Given the description of an element on the screen output the (x, y) to click on. 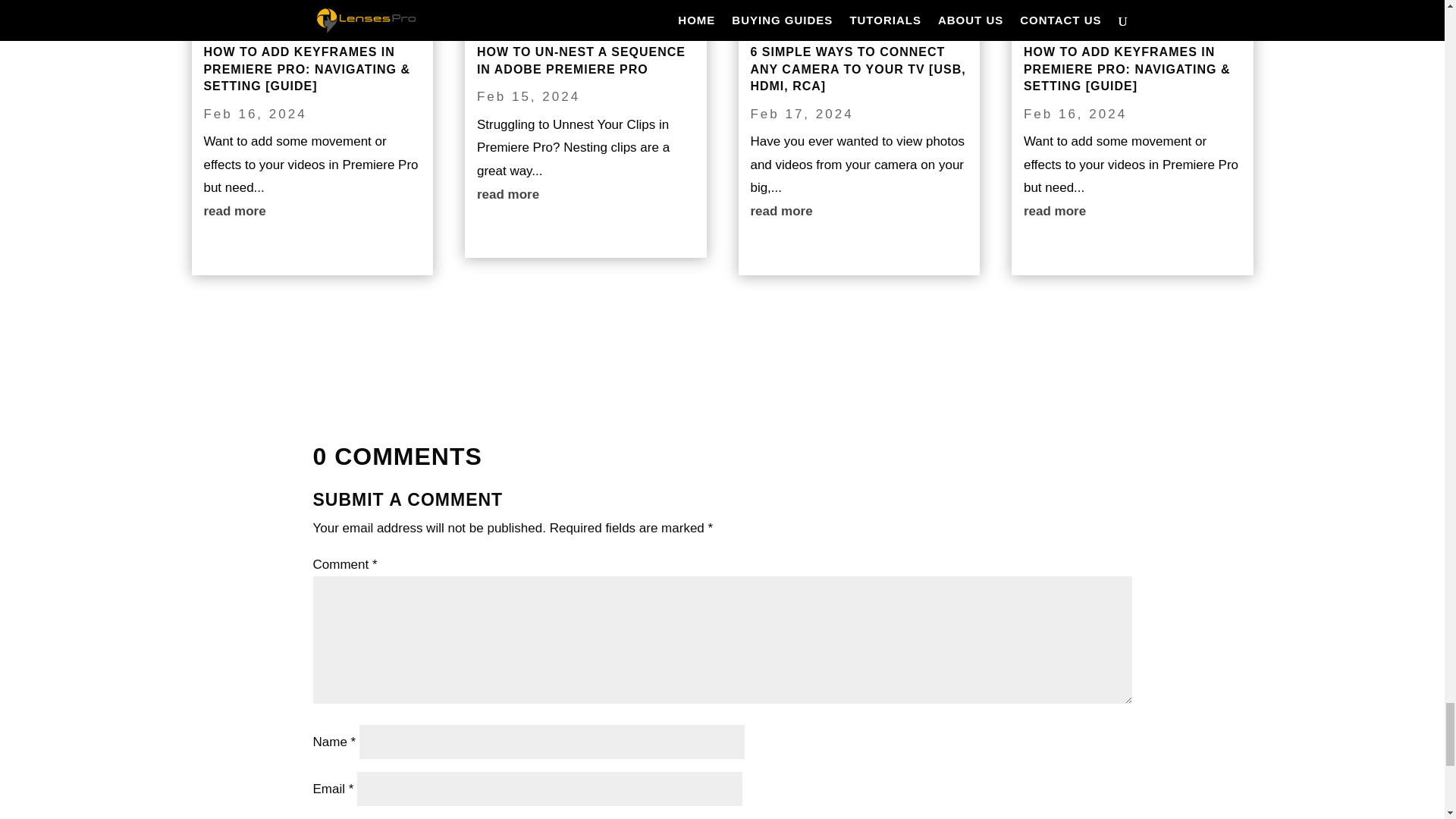
read more (311, 211)
read more (585, 195)
HOW TO UN-NEST A SEQUENCE IN ADOBE PREMIERE PRO (581, 60)
